Given the description of an element on the screen output the (x, y) to click on. 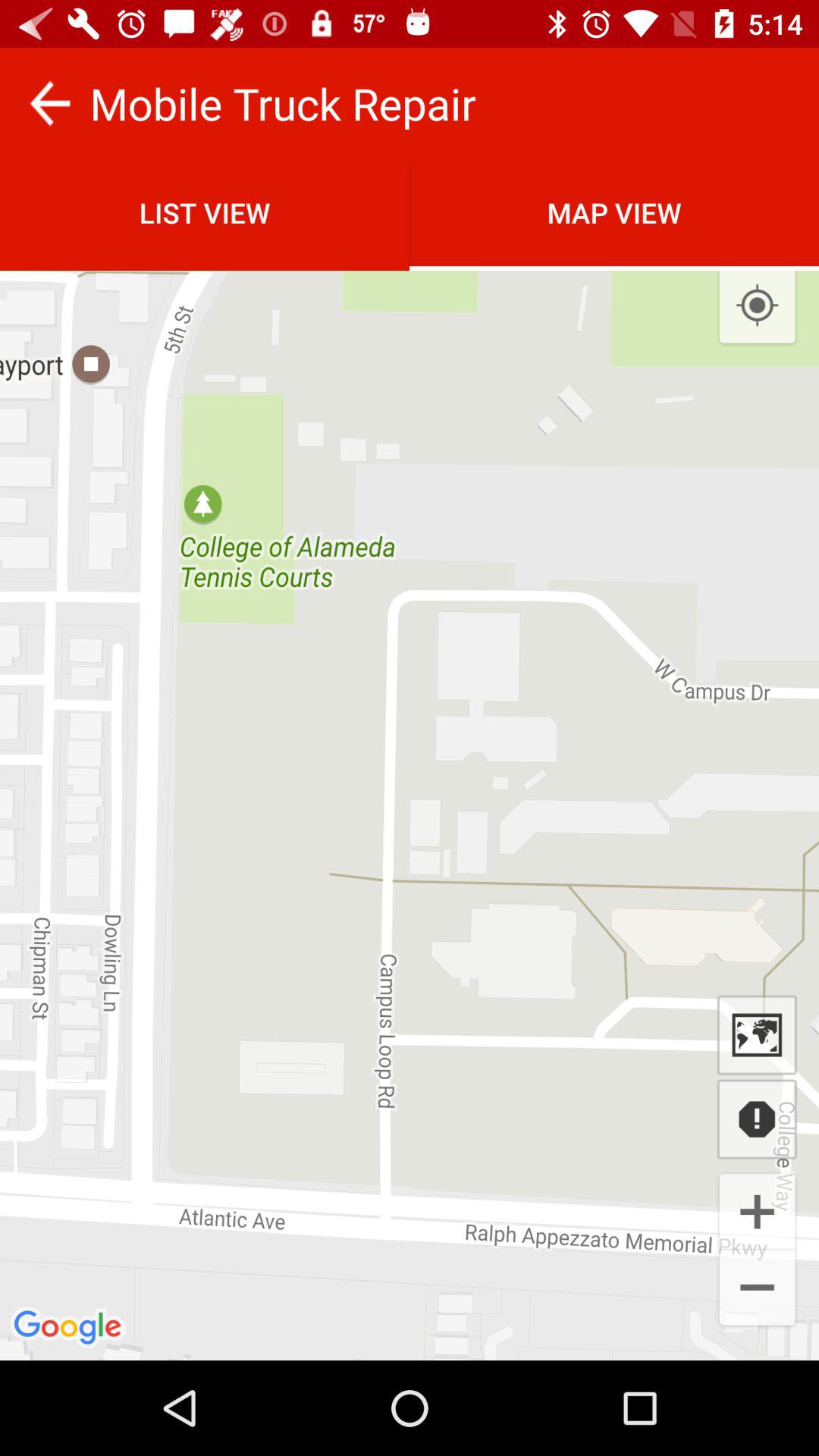
click item to the left of the mobile truck repair (49, 103)
